Given the description of an element on the screen output the (x, y) to click on. 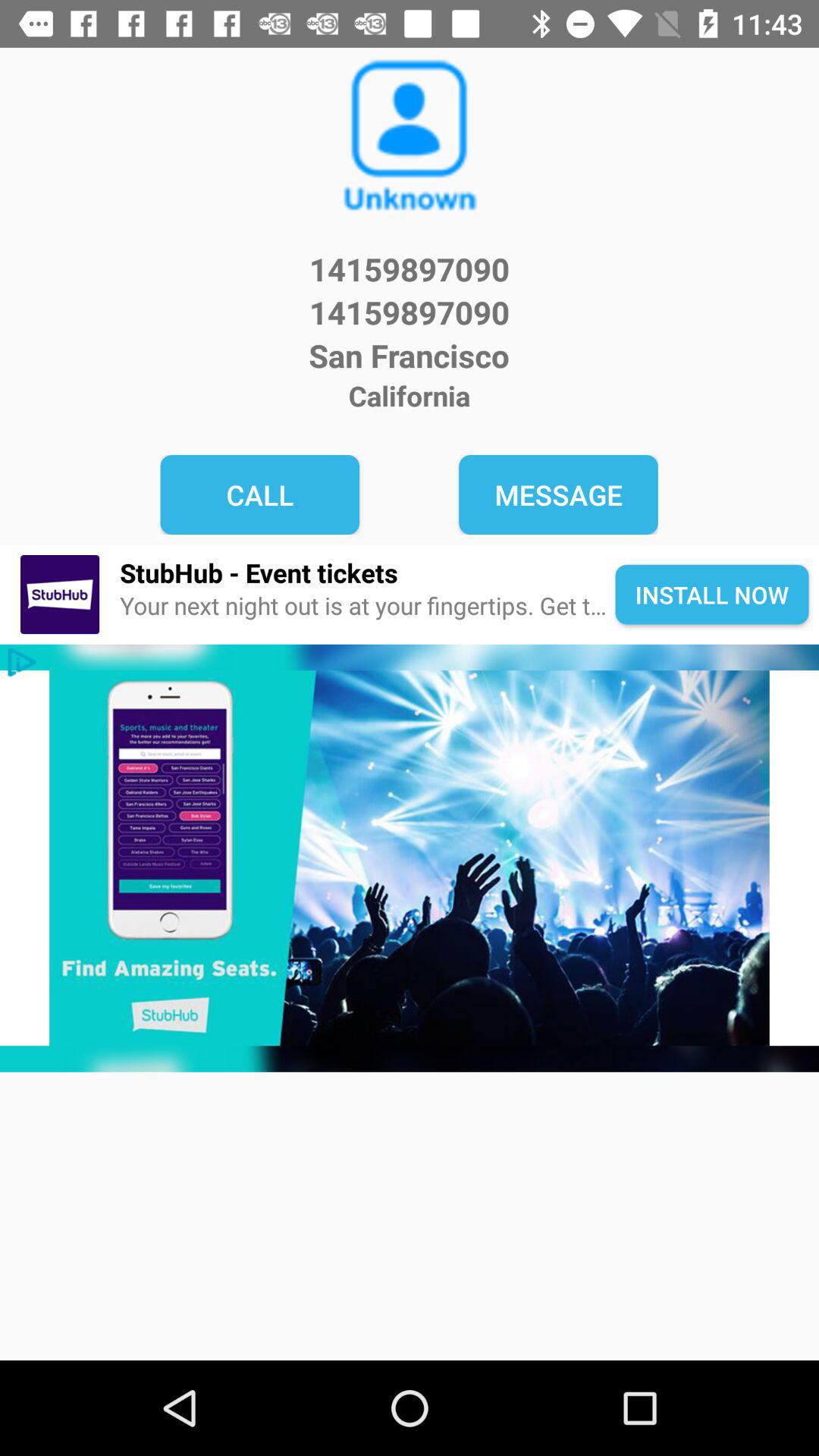
select item next to call icon (558, 494)
